Given the description of an element on the screen output the (x, y) to click on. 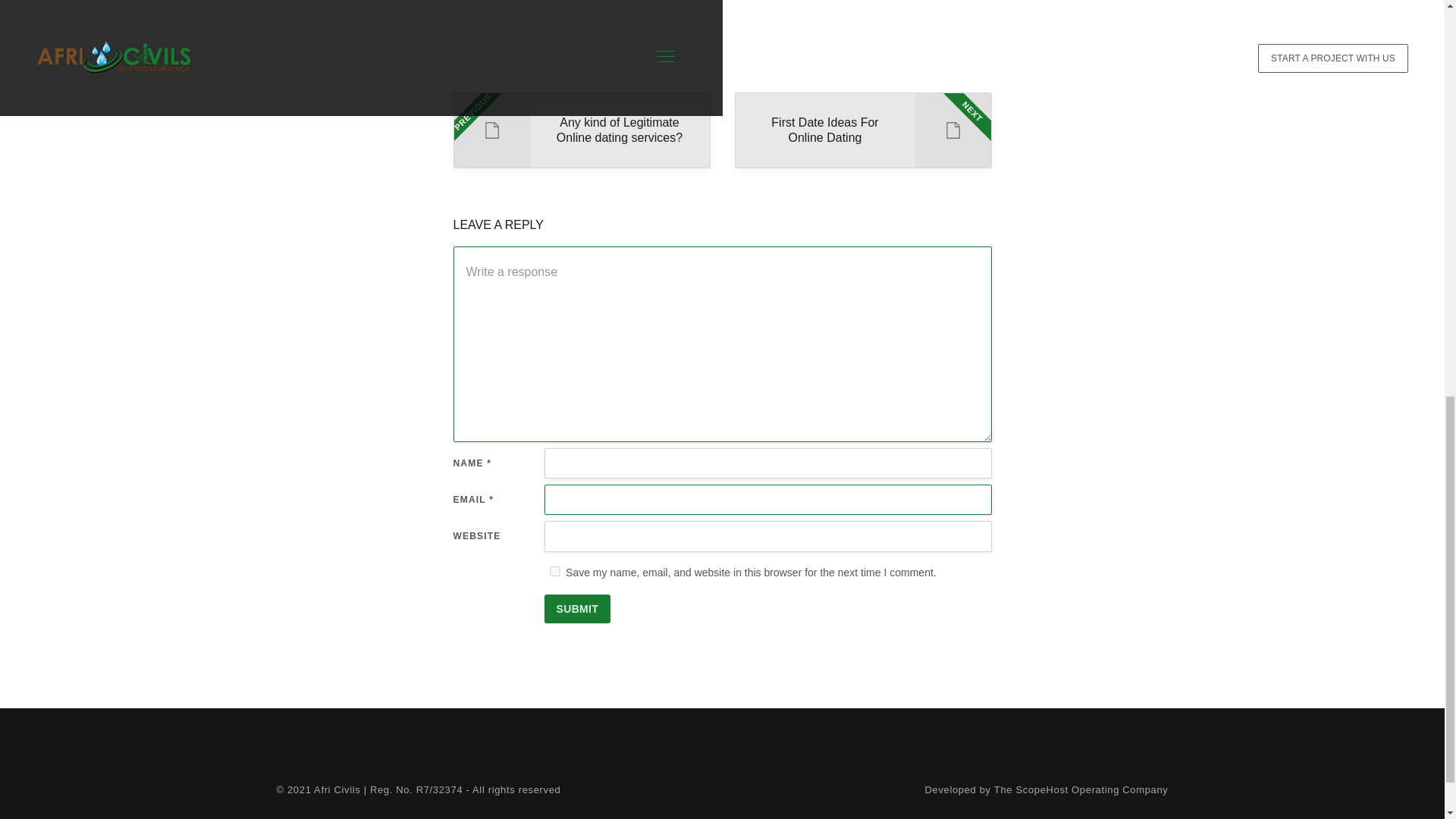
Submit (577, 608)
Developed by The ScopeHost Operating Company (581, 130)
yes (1045, 790)
Submit (862, 130)
